Given the description of an element on the screen output the (x, y) to click on. 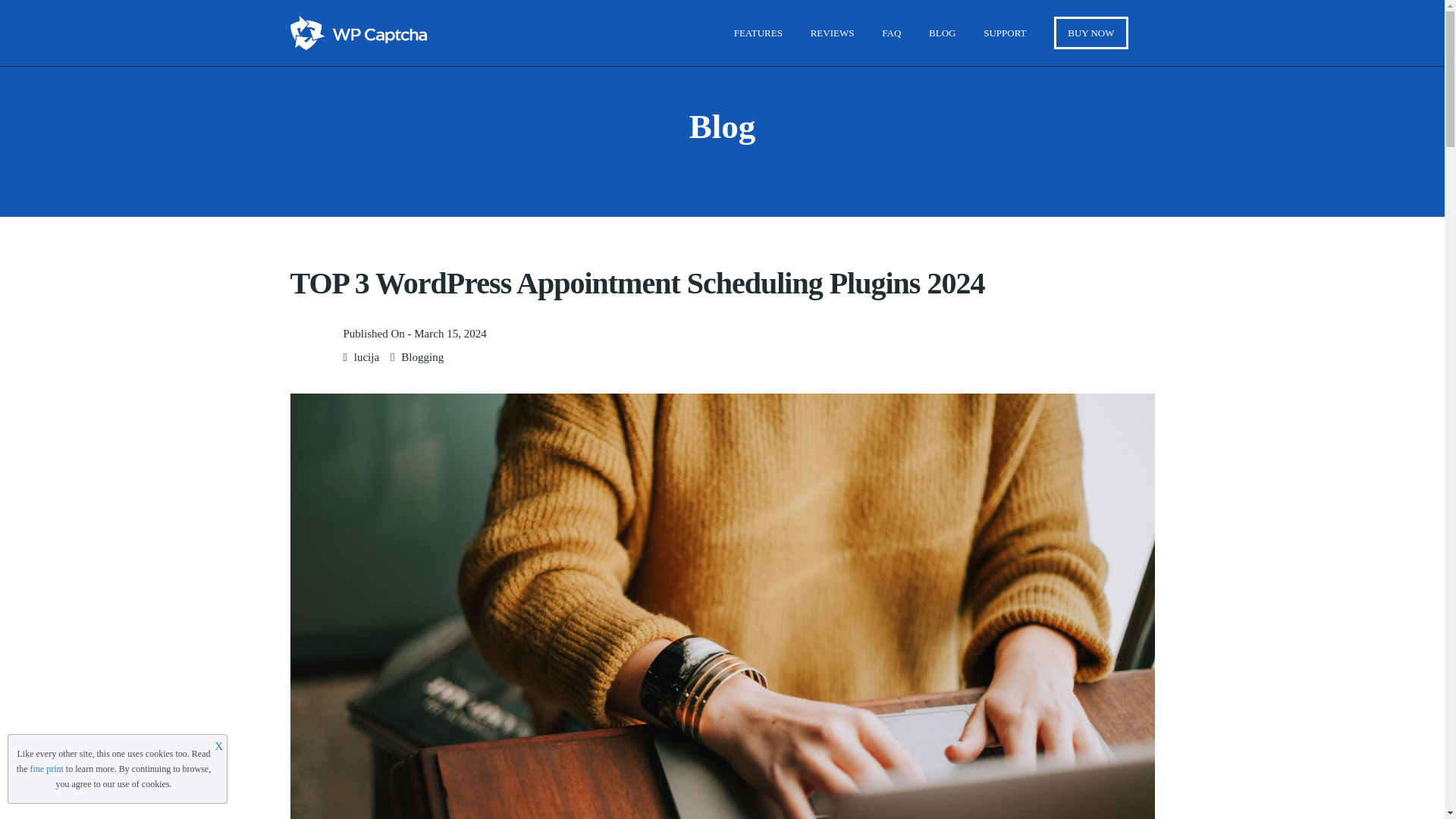
March 15, 2024 (449, 333)
Blogging (422, 357)
BUY NOW (1090, 32)
lucija (365, 357)
